Given the description of an element on the screen output the (x, y) to click on. 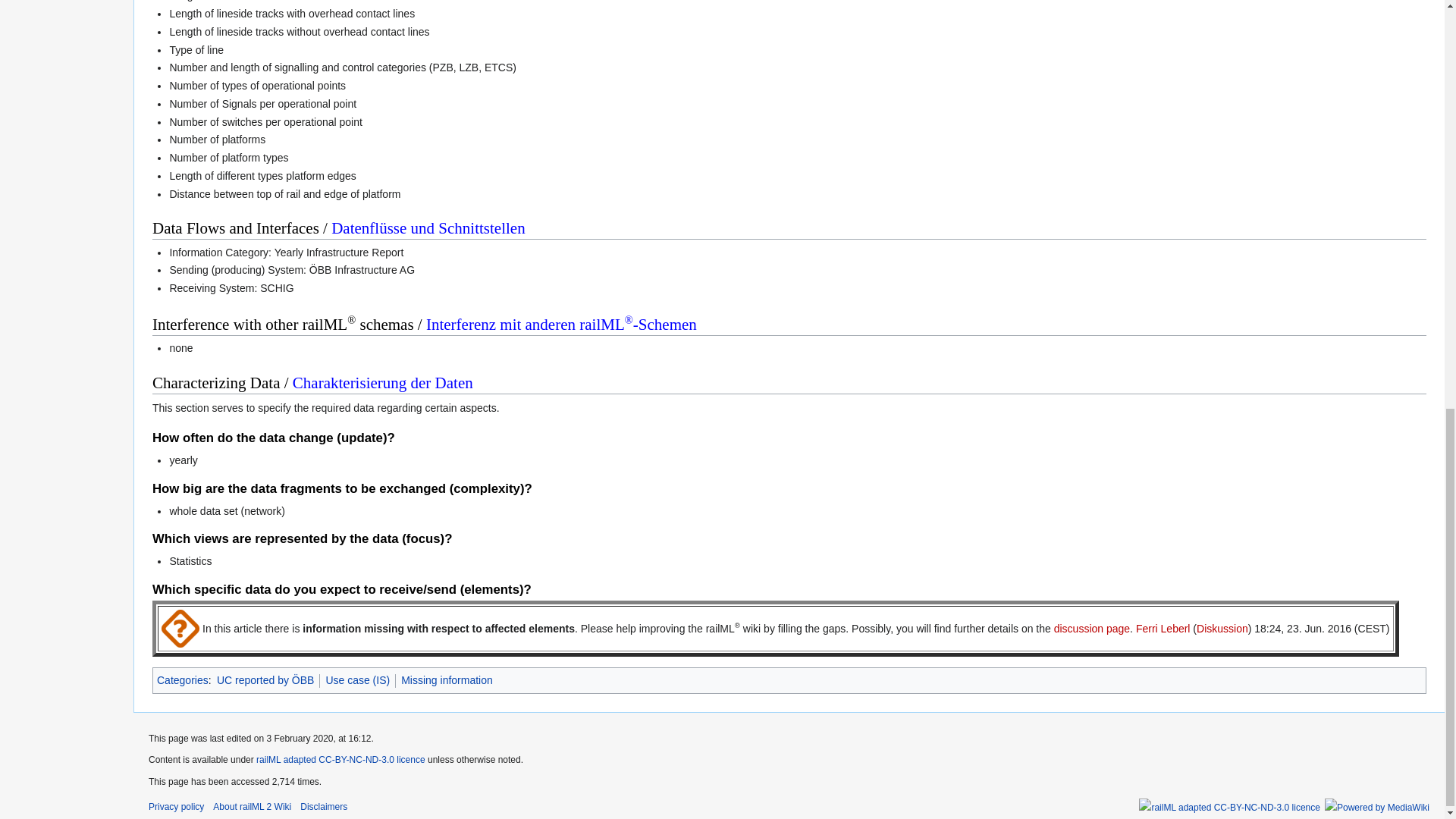
discussion page (1091, 628)
Special:Categories (182, 680)
Missing information (447, 680)
Diskussion (1221, 628)
Category:Missing information (447, 680)
Ferri Leberl (1163, 628)
Categories (182, 680)
